Given the description of an element on the screen output the (x, y) to click on. 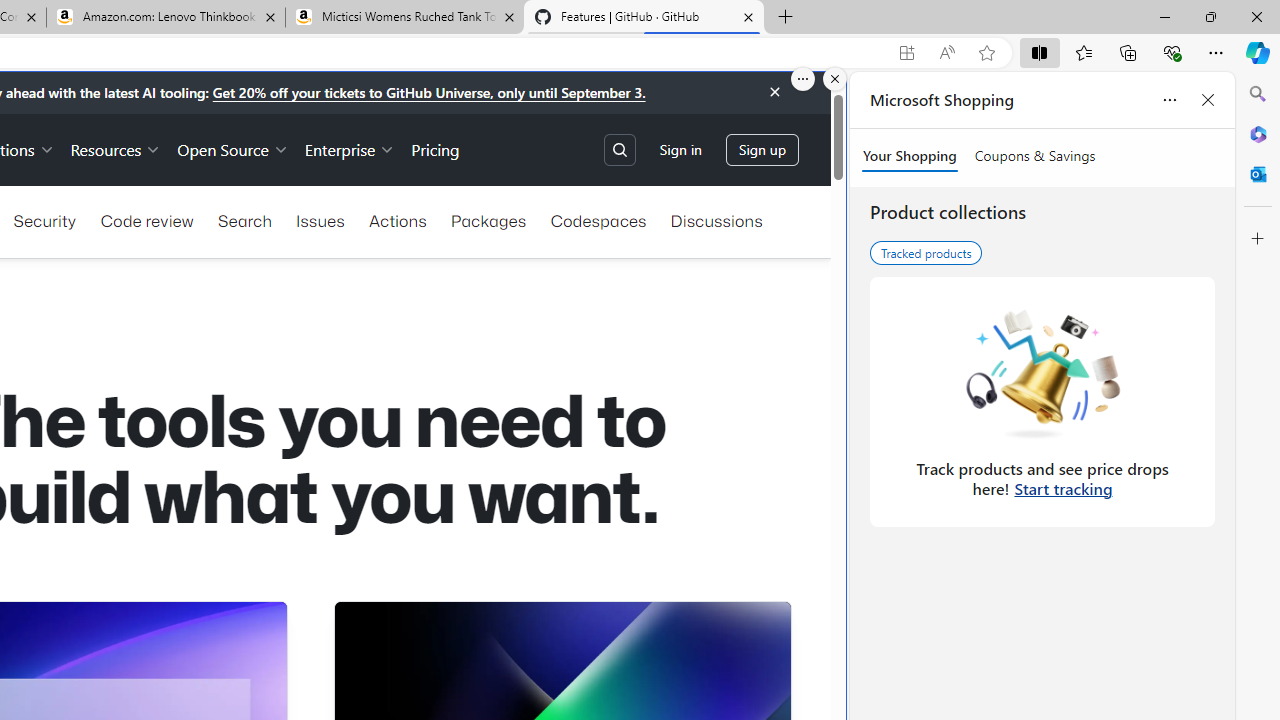
Resources (115, 148)
More options. (803, 79)
Pricing (435, 148)
App available. Install  (906, 53)
Pricing (435, 148)
Resources (115, 148)
Enterprise (349, 148)
Code review (146, 220)
